Given the description of an element on the screen output the (x, y) to click on. 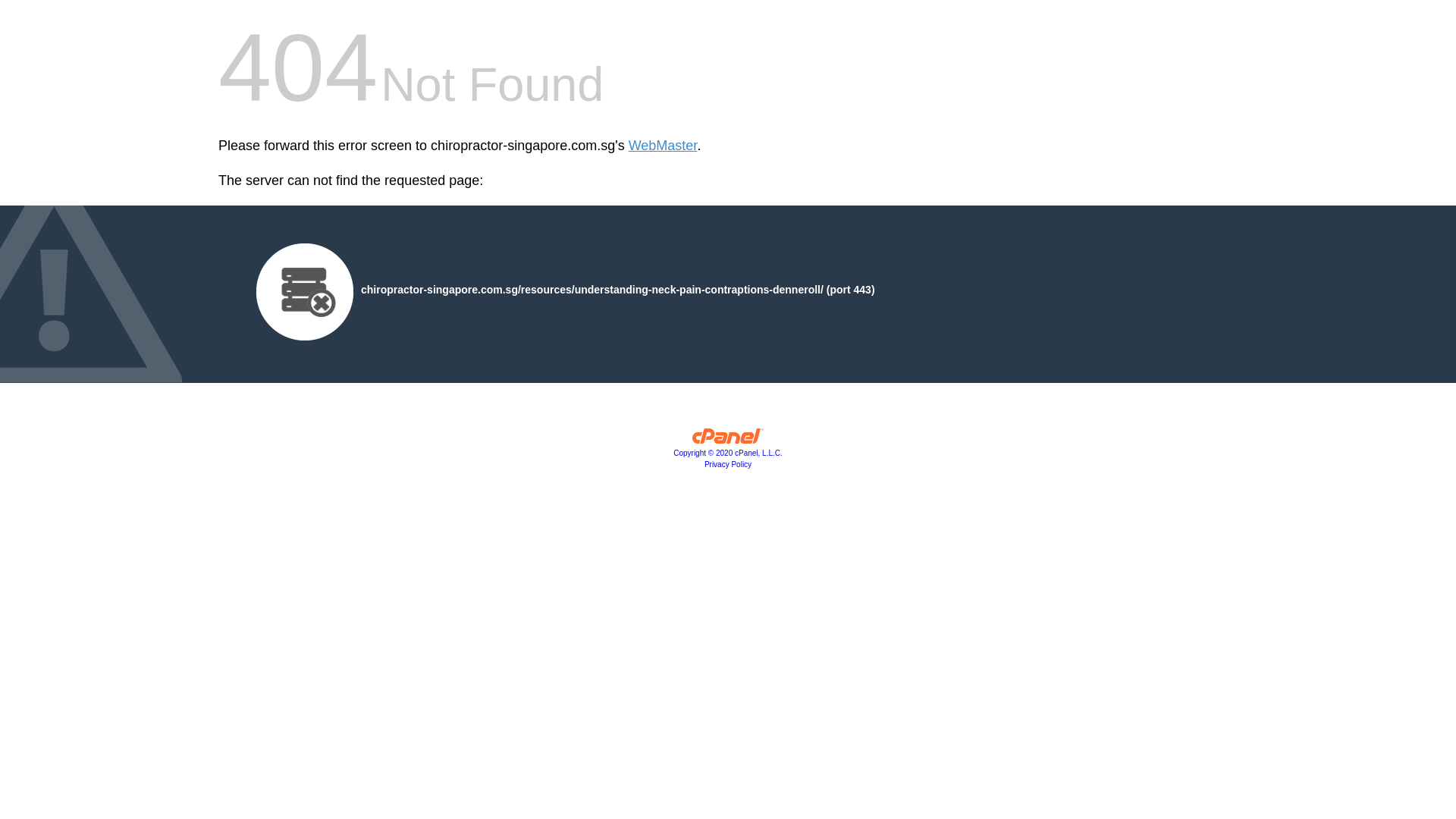
Privacy Policy (727, 464)
WebMaster (662, 145)
cPanel, Inc. (728, 439)
cPanel, Inc. (727, 452)
